Given the description of an element on the screen output the (x, y) to click on. 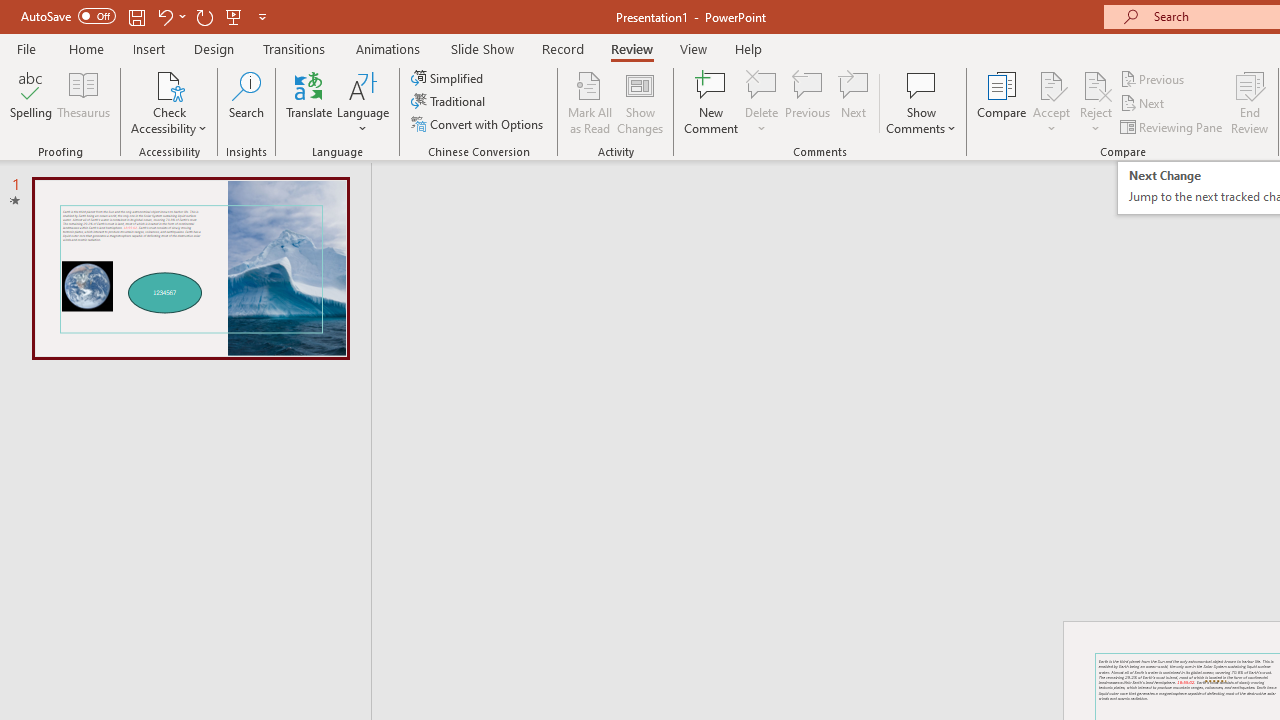
Simplified (449, 78)
